Given the description of an element on the screen output the (x, y) to click on. 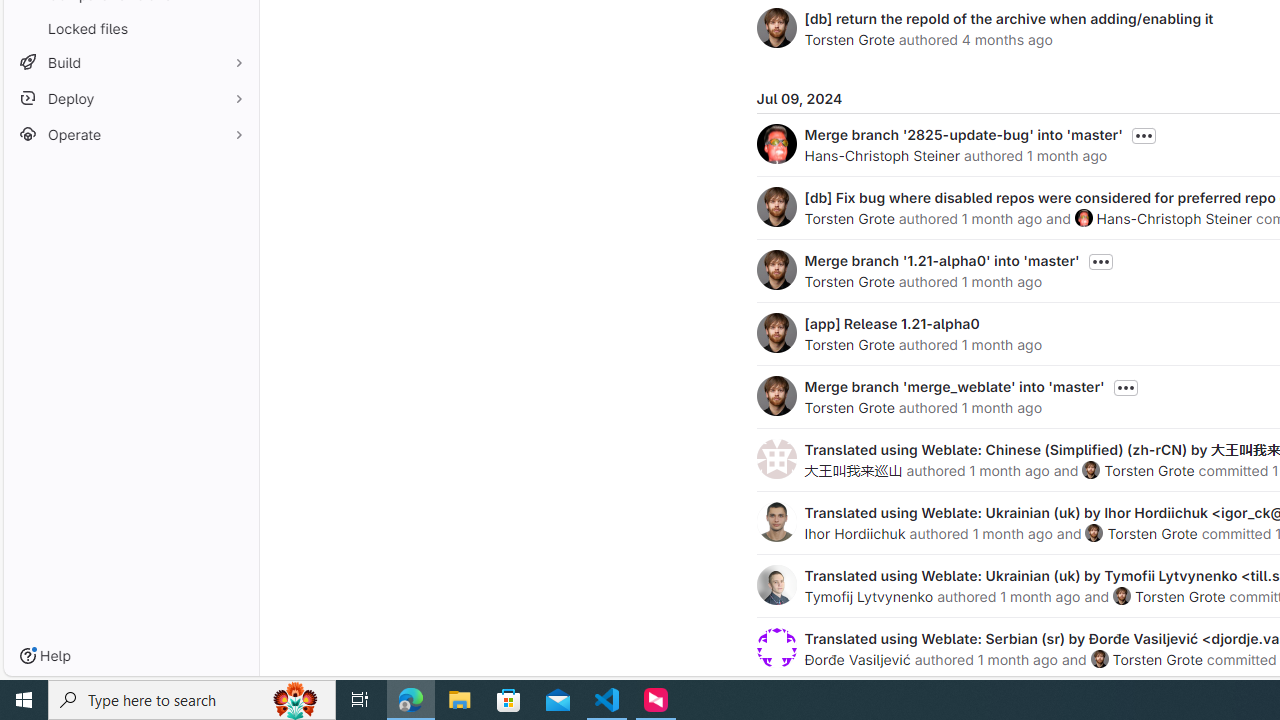
Hans-Christoph Steiner's avatar (1083, 217)
Ihor Hordiichuk's avatar (776, 521)
Merge branch 'merge_weblate' into 'master' (953, 386)
Hans-Christoph Steiner's avatar (1083, 217)
Pin Locked files (234, 28)
Help (45, 655)
Build (130, 62)
Torsten Grote's avatar (1099, 659)
Ihor Hordiichuk's avatar (776, 521)
Hans-Christoph Steiner (1174, 218)
Tymofij Lytvynenko's avatar (776, 584)
Operate (130, 134)
